Given the description of an element on the screen output the (x, y) to click on. 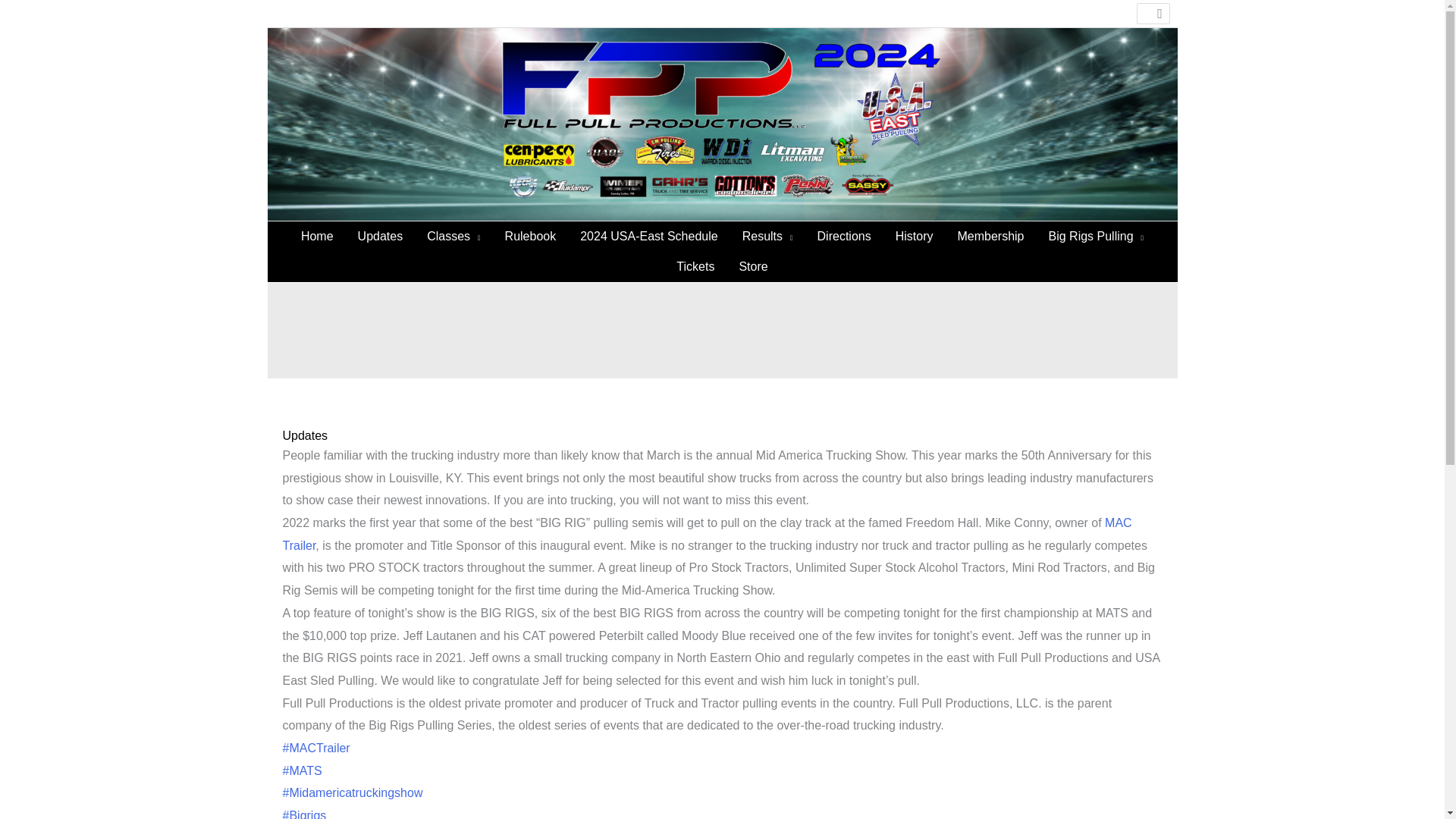
2024 USA-East Schedule (648, 236)
Updates (380, 236)
History (913, 236)
Big Rigs Pulling (1095, 236)
Tickets (694, 266)
Home (568, 350)
Updates (304, 435)
MAC Trailer (706, 534)
Results (767, 236)
Home (317, 236)
Membership (989, 236)
Store (752, 266)
Rulebook (531, 236)
Directions (844, 236)
Classes (453, 236)
